Given the description of an element on the screen output the (x, y) to click on. 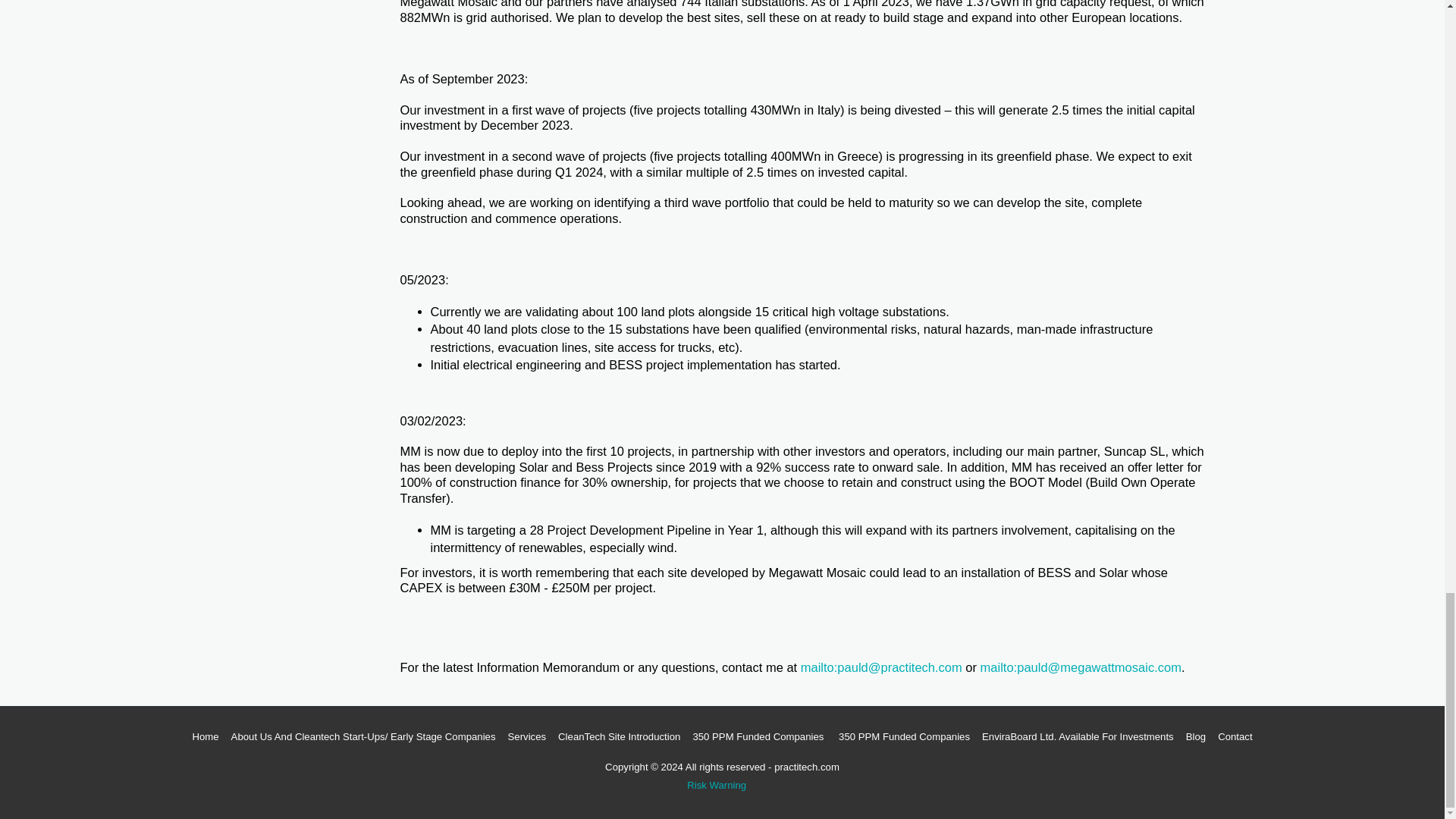
Home (205, 736)
350 PPM Funded Companies  (760, 736)
CleanTech Site Introduction (618, 736)
Services (527, 736)
